Given the description of an element on the screen output the (x, y) to click on. 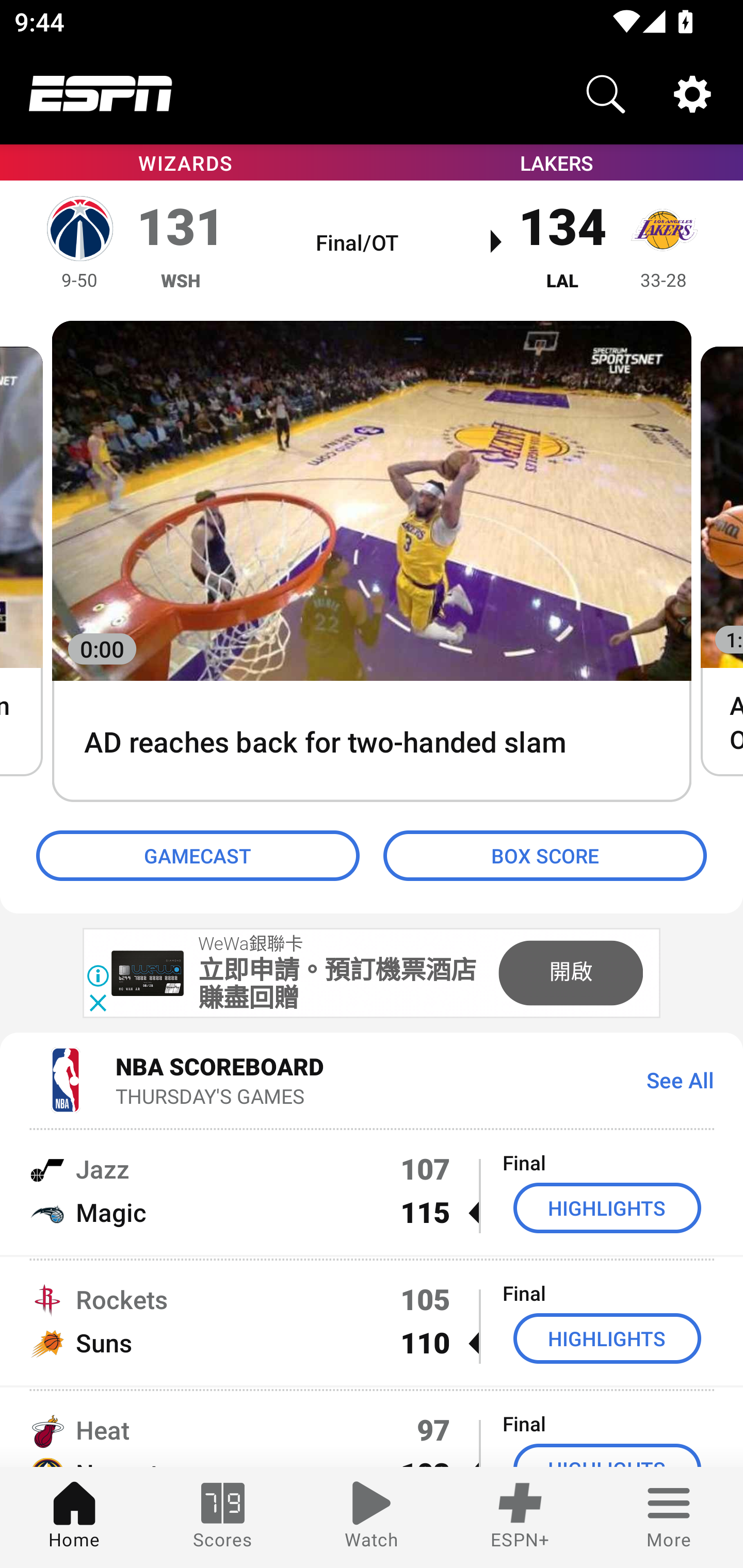
Search (605, 93)
Settings (692, 93)
0:00 AD reaches back for two-handed slam (371, 561)
GAMECAST (197, 856)
BOX SCORE (544, 856)
NBA SCOREBOARD THURSDAY'S GAMES See All (371, 1079)
Jazz 107 Final Magic 115  HIGHLIGHTS (371, 1189)
HIGHLIGHTS (607, 1208)
Rockets 105 Final Suns 110  HIGHLIGHTS (371, 1321)
HIGHLIGHTS (607, 1338)
Heat 97 Final Nuggets 103  HIGHLIGHTS (371, 1427)
Scores (222, 1517)
Watch (371, 1517)
ESPN+ (519, 1517)
More (668, 1517)
